Given the description of an element on the screen output the (x, y) to click on. 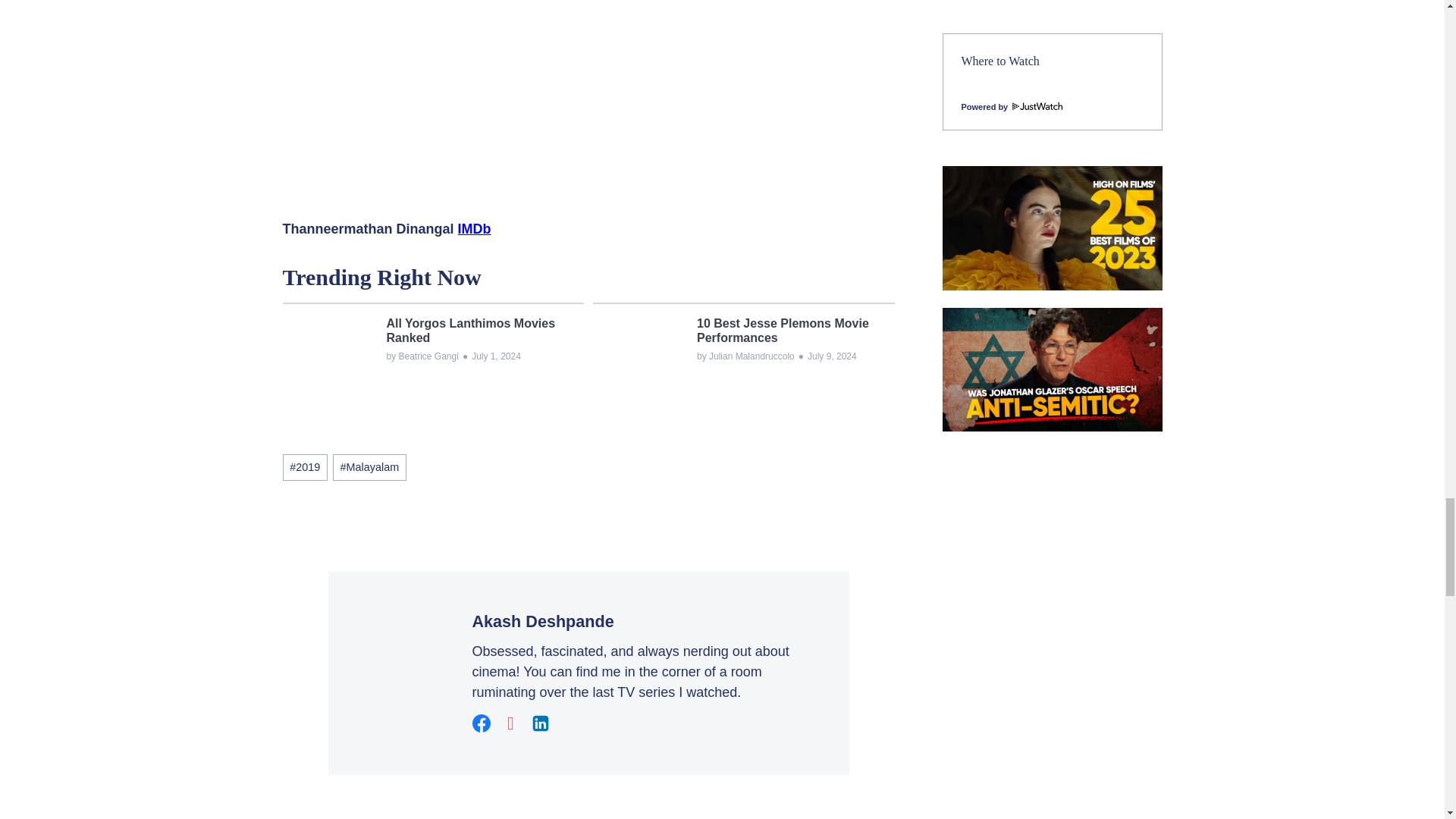
IMDb (475, 228)
Malayalam (369, 467)
Posts by Akash Deshpande (541, 620)
2019 (304, 467)
